Given the description of an element on the screen output the (x, y) to click on. 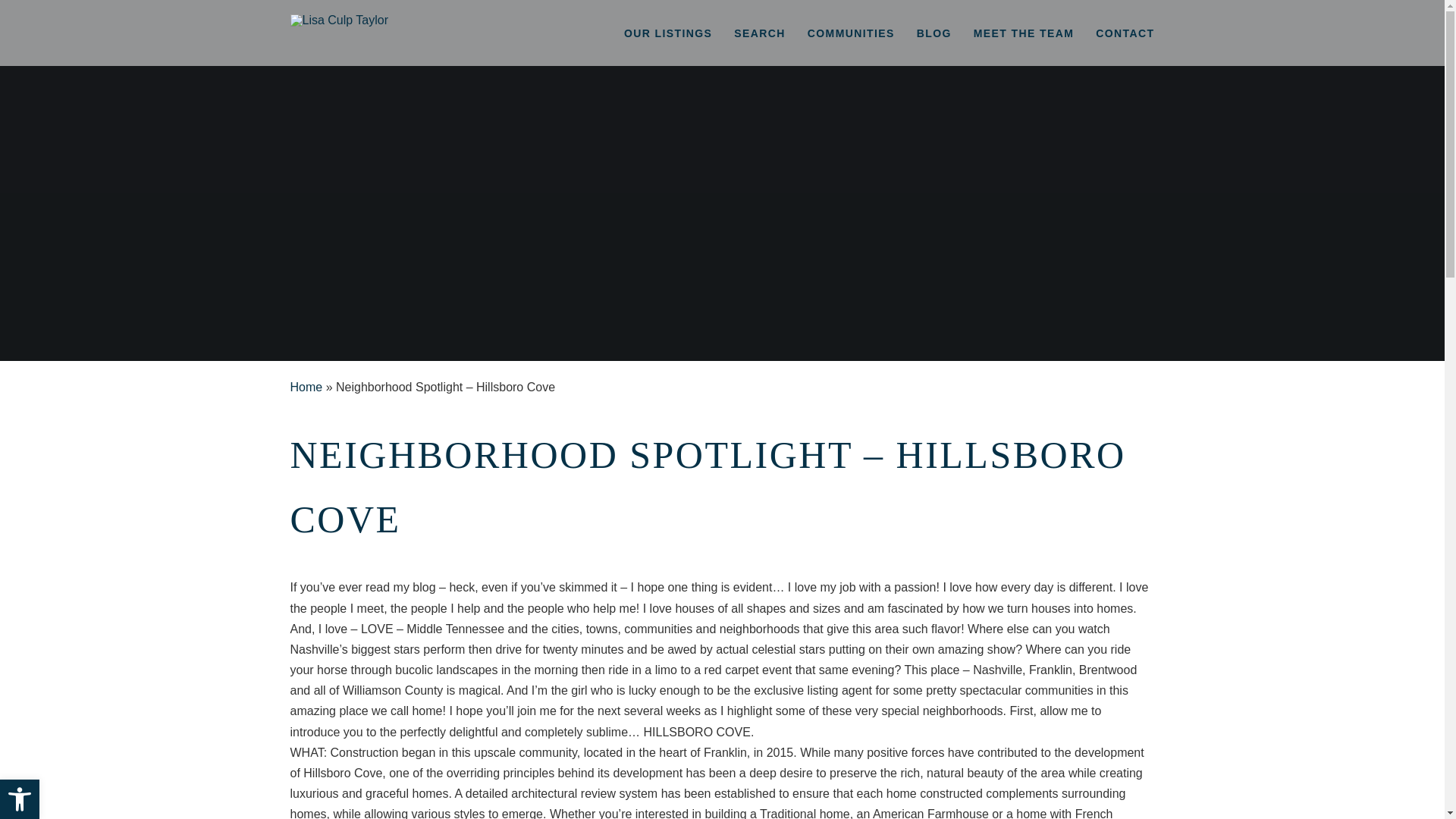
Accessibility Tools (19, 799)
Decrease Text (19, 799)
Links Underline (934, 33)
SEARCH (667, 33)
Reset (759, 33)
Links Underline (19, 799)
